Given the description of an element on the screen output the (x, y) to click on. 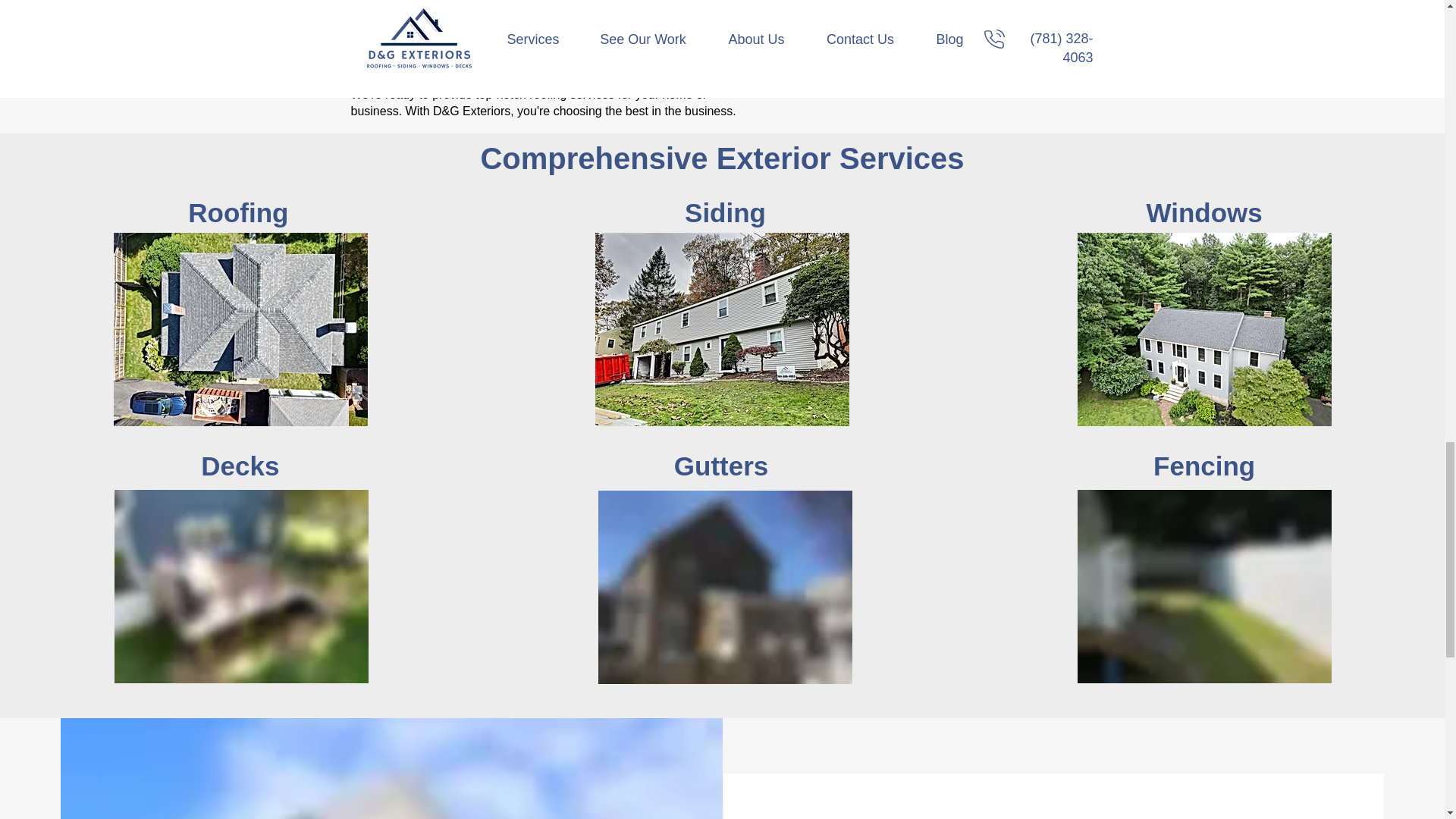
Fencing (1204, 465)
Windows (1204, 212)
Siding (724, 212)
Roofing (237, 212)
Decks (239, 465)
Gutters (721, 465)
